Given the description of an element on the screen output the (x, y) to click on. 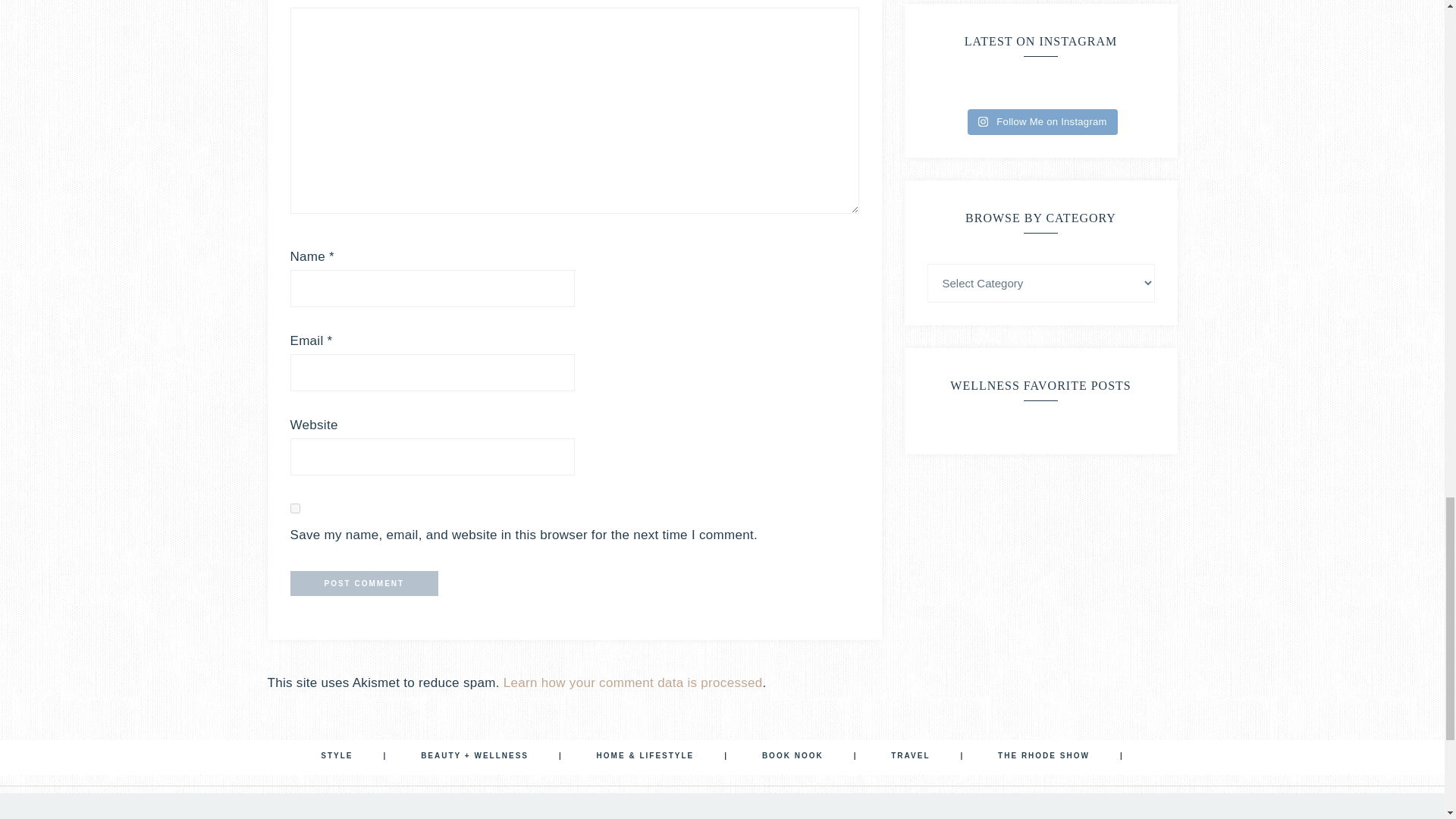
Post Comment (363, 583)
Learn how your comment data is processed (632, 682)
yes (294, 508)
Post Comment (363, 583)
